Given the description of an element on the screen output the (x, y) to click on. 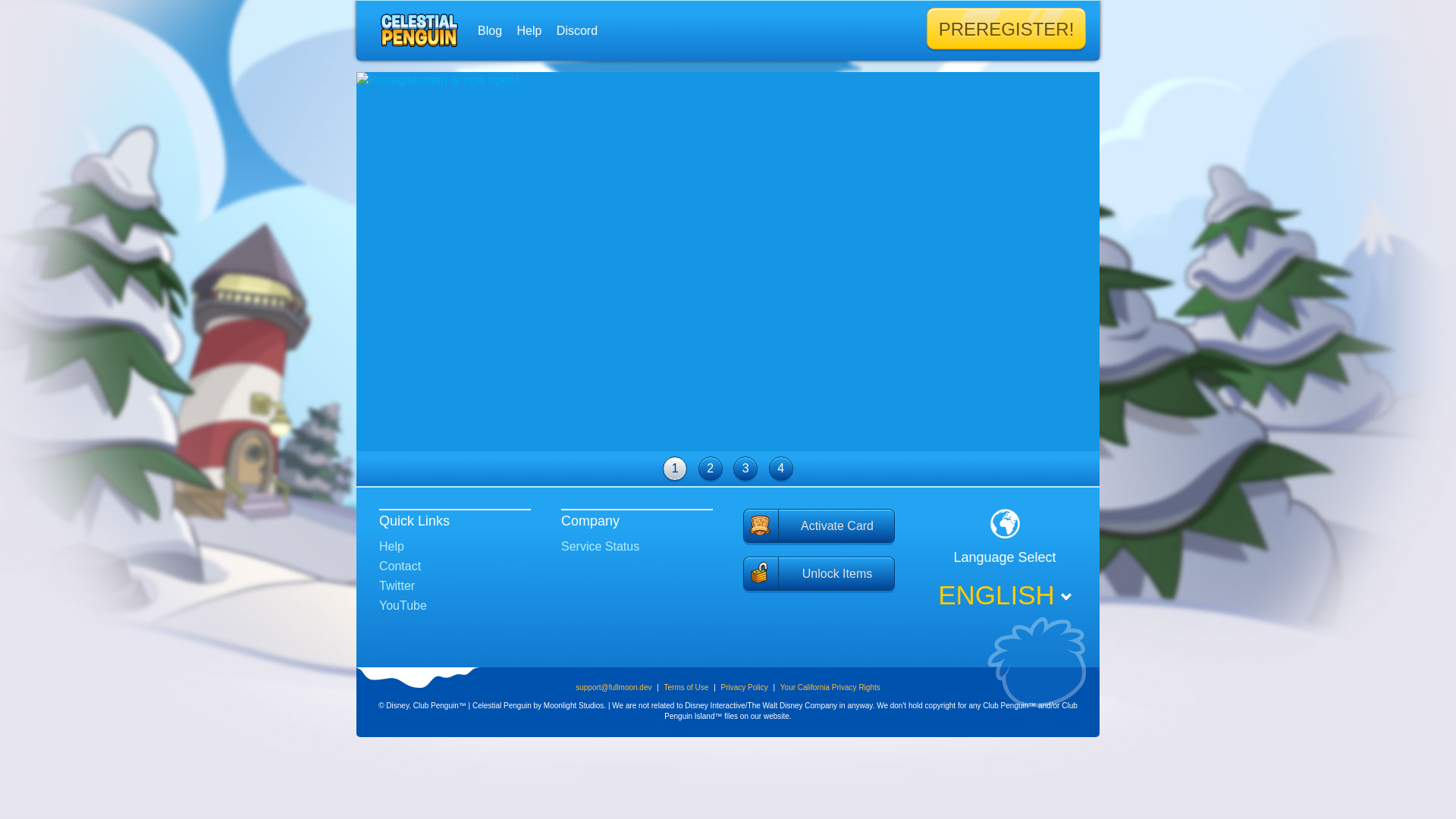
Blog Element type: text (489, 29)
Contact Element type: text (399, 565)
Help Element type: text (391, 545)
4 Element type: text (780, 468)
Privacy Policy Element type: text (744, 687)
Twitter Element type: text (396, 585)
Unlock Items Element type: text (818, 574)
Language Select ENGLISH Element type: text (1004, 558)
Help Element type: text (528, 29)
1 Element type: text (674, 468)
PREREGISTER! Element type: text (1005, 28)
Your California Privacy Rights Element type: text (830, 687)
Service Status Element type: text (600, 545)
3 Element type: text (745, 468)
2 Element type: text (710, 468)
support@fullmoon.dev Element type: text (613, 687)
Terms of Use Element type: text (685, 687)
YouTube Element type: text (402, 605)
Skip to main content Element type: text (691, 1)
Discord Element type: text (576, 29)
Activate Card Element type: text (818, 526)
